Given the description of an element on the screen output the (x, y) to click on. 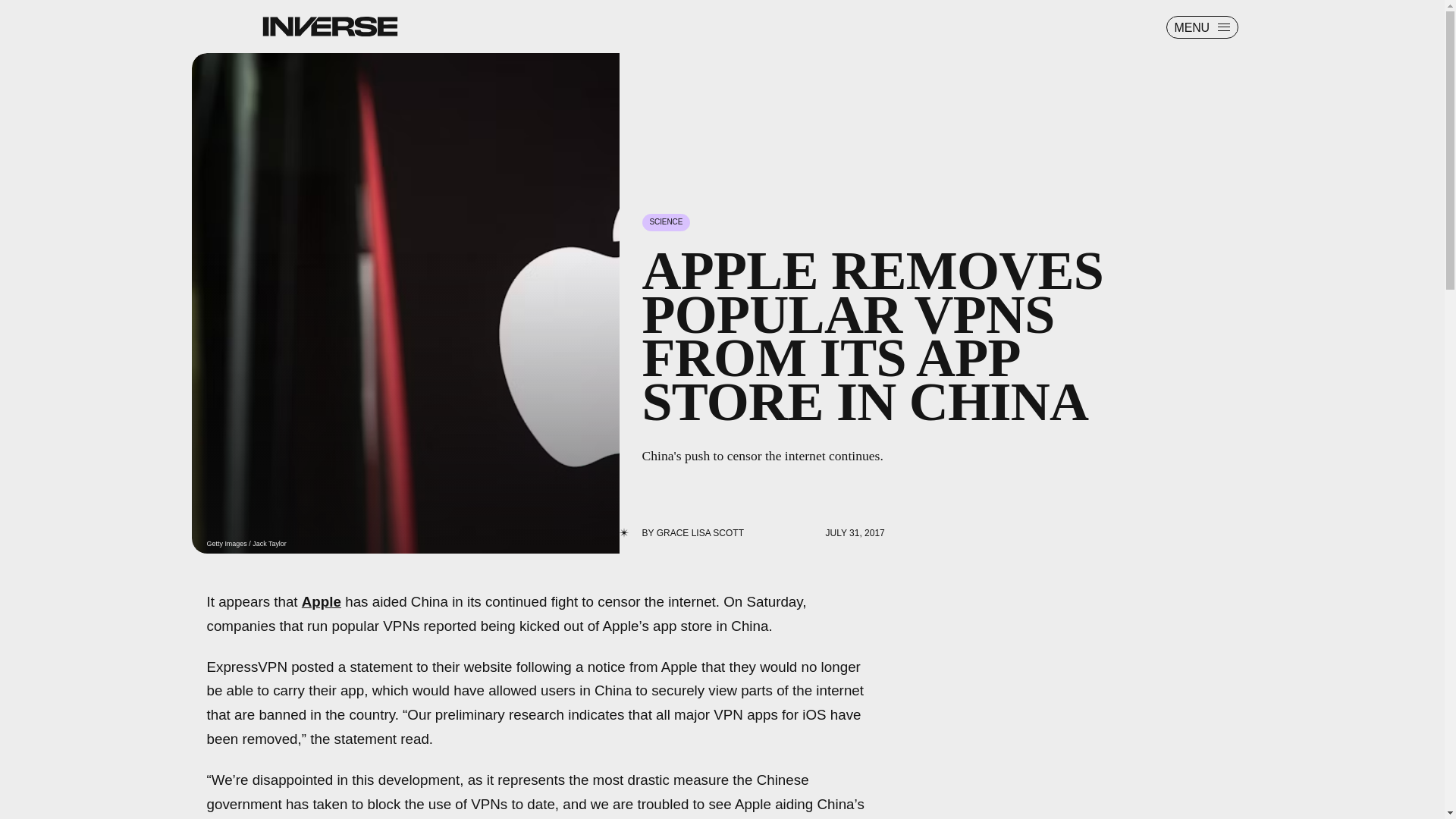
GRACE LISA SCOTT (700, 532)
Apple (320, 601)
Inverse (328, 26)
